Given the description of an element on the screen output the (x, y) to click on. 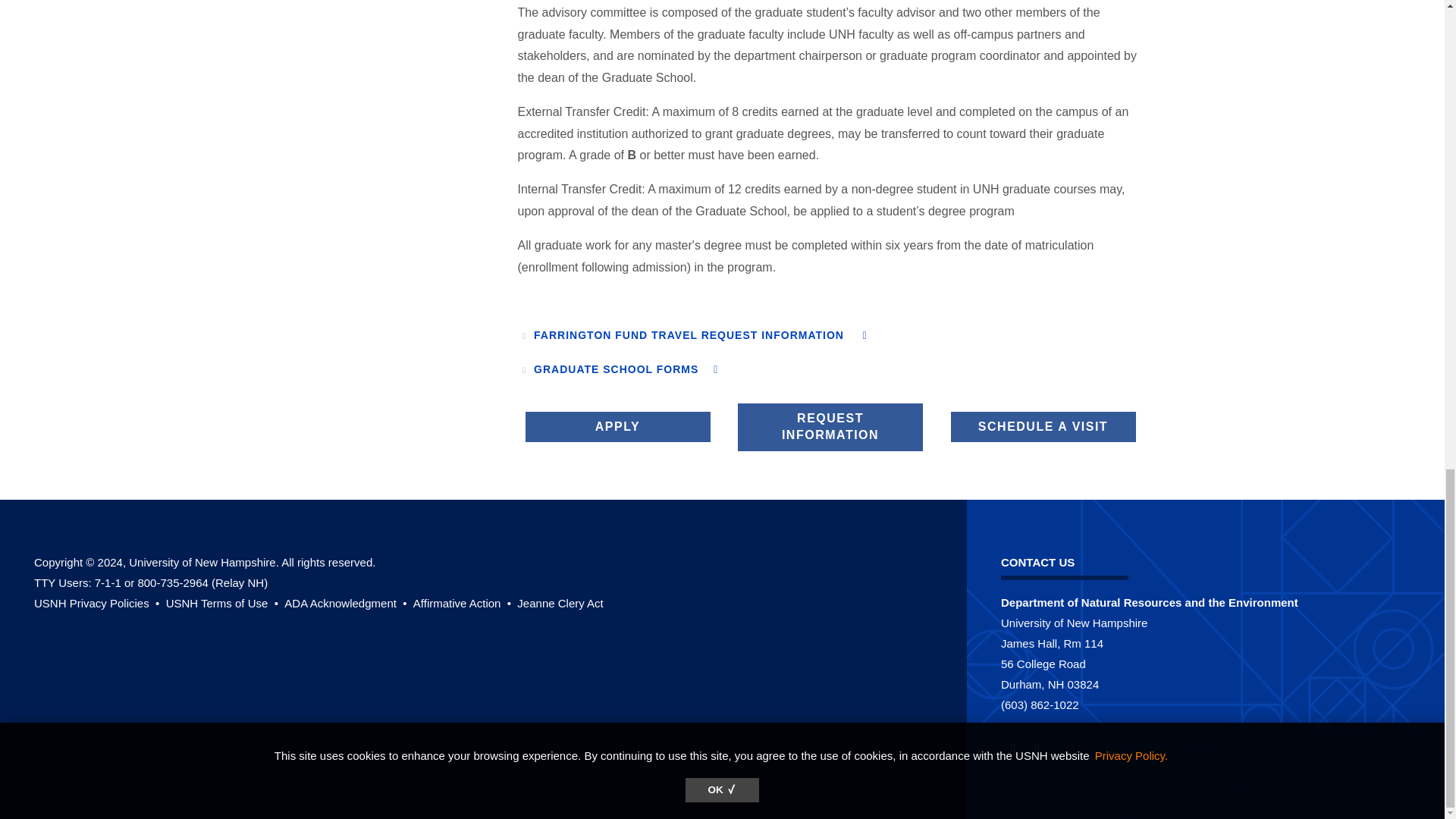
Learn (97, 603)
Learn (559, 603)
Learn (223, 603)
Learn (463, 603)
Farrington fund travel scholarship guidelines and templates (700, 335)
Learn more about ADA acknowledgement (346, 603)
